Given the description of an element on the screen output the (x, y) to click on. 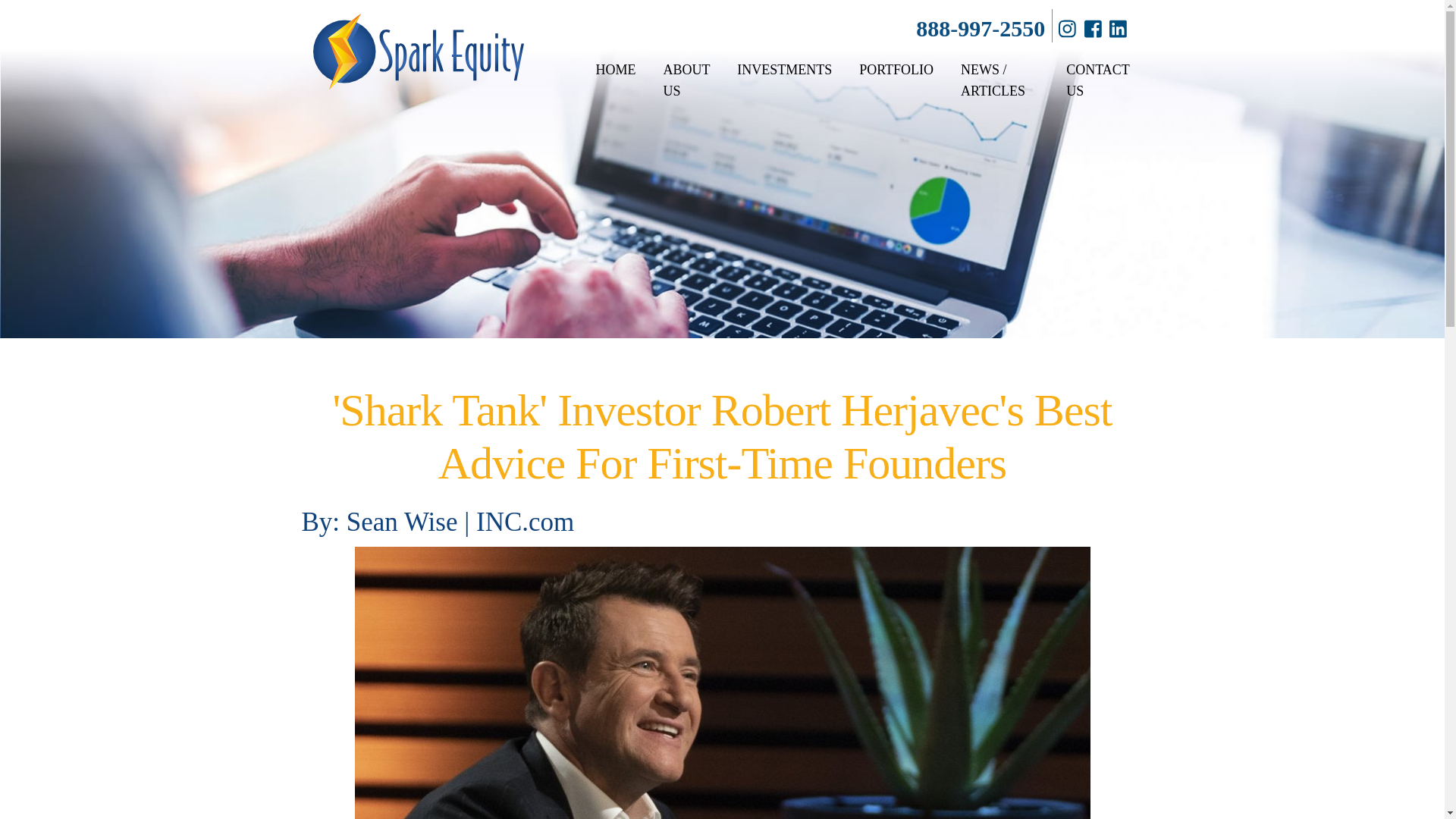
PORTFOLIO (896, 69)
HOME (614, 69)
888-997-2550 (980, 27)
ABOUT US (686, 79)
CONTACT US (1097, 79)
INVESTMENTS (784, 69)
